Given the description of an element on the screen output the (x, y) to click on. 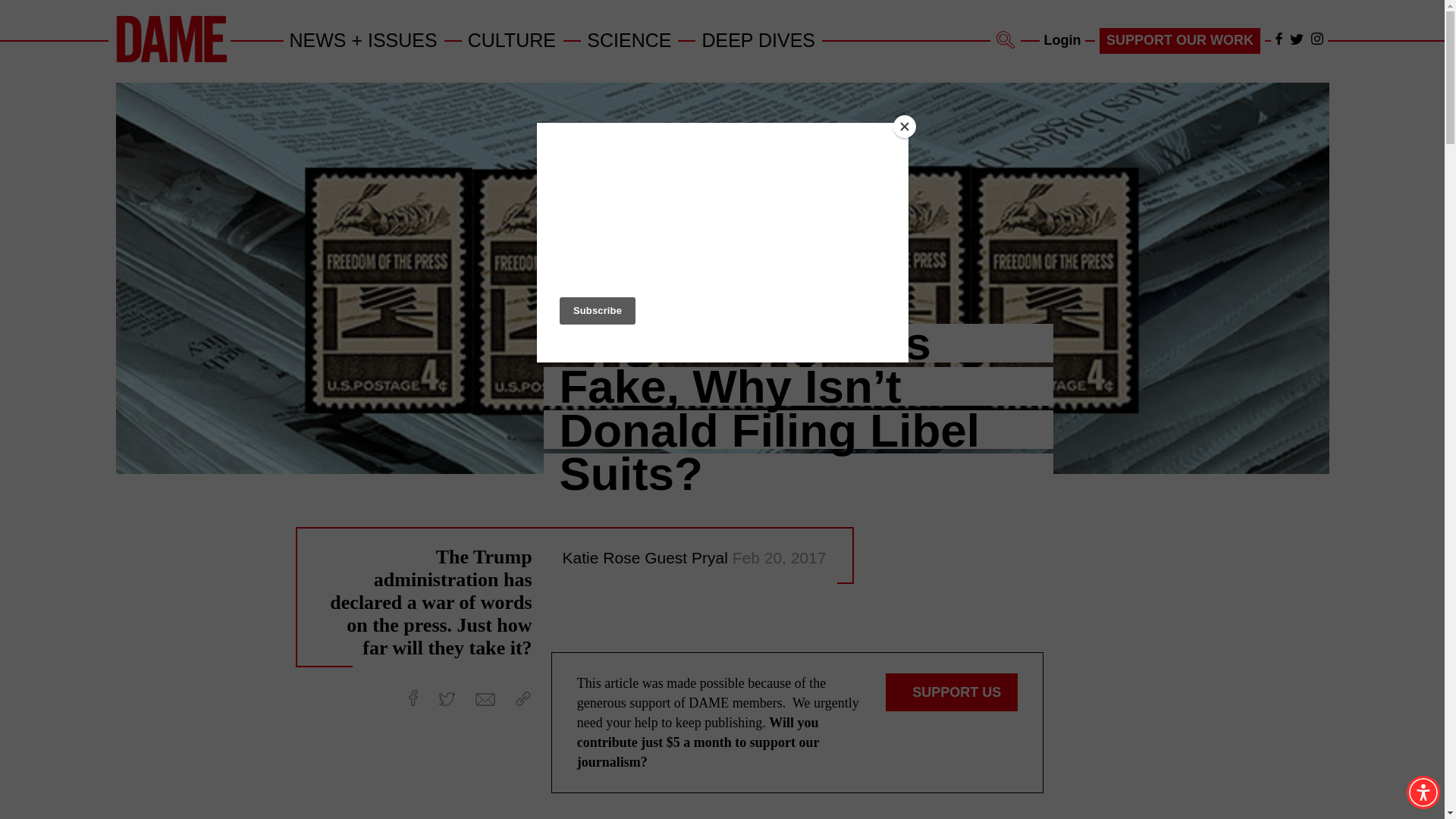
Email (485, 698)
SCIENCE (629, 39)
Search (1004, 39)
DAME (171, 58)
Twitter (1296, 39)
DEEP DIVES (758, 39)
Culture (512, 39)
Share (523, 698)
Twitter (446, 698)
Accessibility Menu (1422, 792)
DAME (171, 38)
Deep Dives (758, 39)
CULTURE (512, 39)
Instagram (1316, 38)
View all posts by Katie Rose Guest Pryal (647, 557)
